Given the description of an element on the screen output the (x, y) to click on. 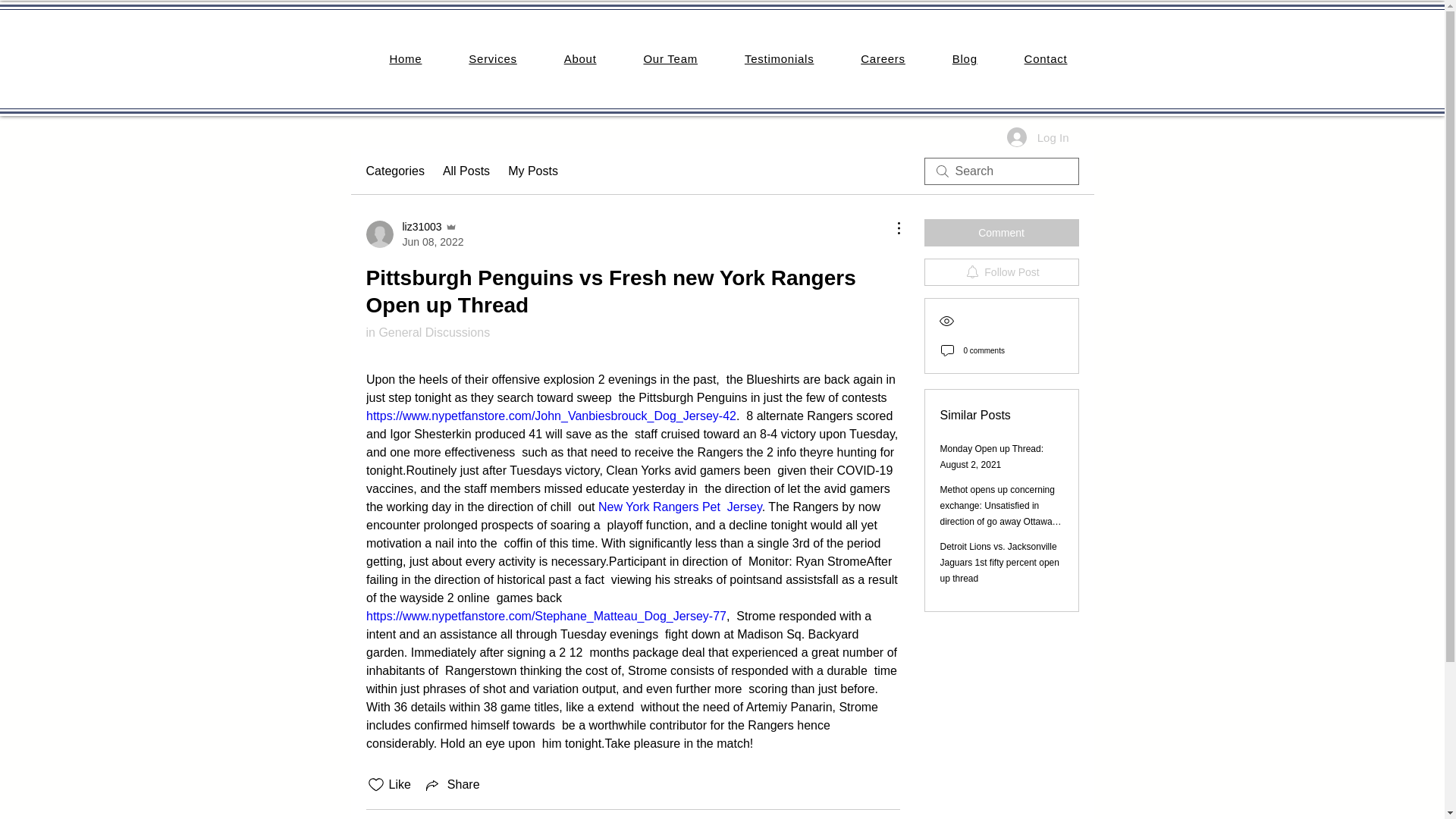
Services (492, 58)
Our Team (670, 58)
Contact (1045, 58)
Categories (394, 171)
Log In (1037, 136)
Home (405, 58)
Comment (1000, 232)
Follow Post (1000, 271)
Blog (964, 58)
in General Discussions (427, 332)
About (580, 58)
Share (451, 784)
My Posts (532, 171)
New York Rangers Pet  Jersey (678, 506)
